Given the description of an element on the screen output the (x, y) to click on. 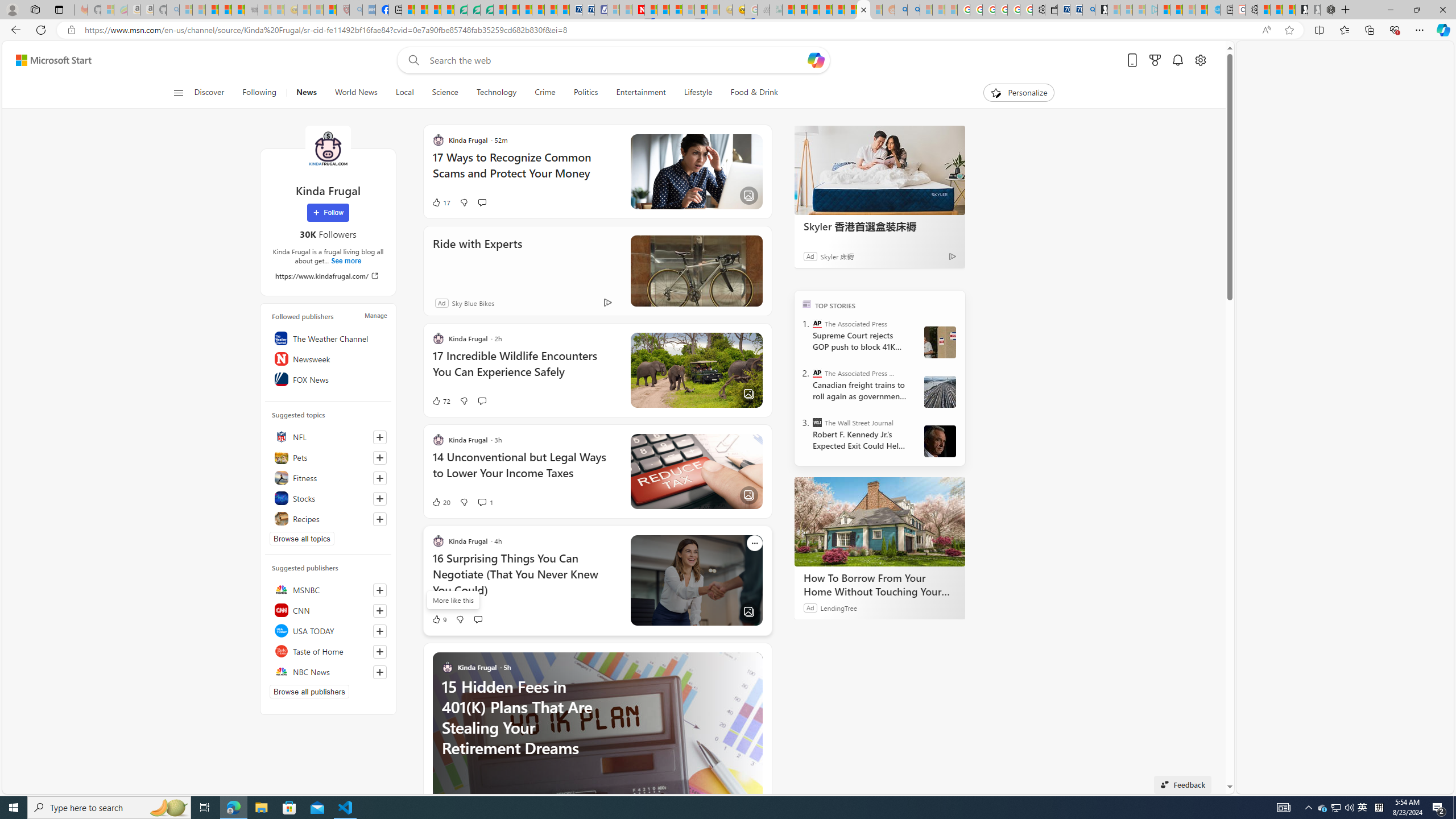
Follow this source (379, 672)
Sky Blue Bikes (472, 302)
Combat Siege (251, 9)
Microsoft account | Privacy - Sleeping (1139, 9)
list of asthma inhalers uk - Search - Sleeping (355, 9)
Microsoft Start - Sleeping (1188, 9)
Stocks (327, 497)
Nordace - Nordace Siena Is Not An Ordinary Backpack (1327, 9)
Navy Quest (763, 9)
USA TODAY (327, 630)
The Wall Street Journal (816, 422)
App bar (728, 29)
